Given the description of an element on the screen output the (x, y) to click on. 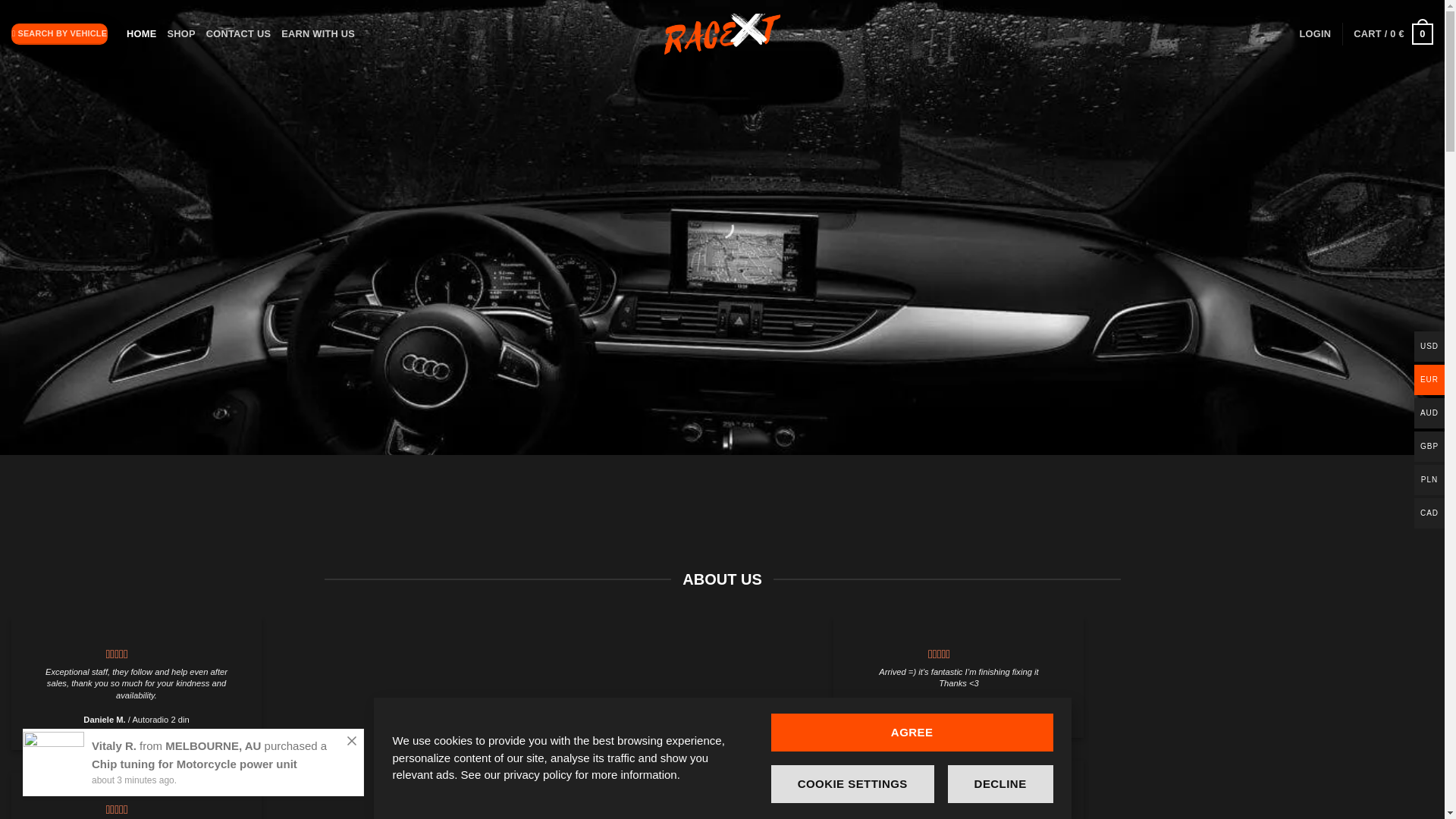
LOGIN (1314, 33)
SHOP (181, 33)
EARN WITH US (318, 33)
CONTACT US (238, 33)
HOME (140, 33)
Cart (1393, 34)
